Given the description of an element on the screen output the (x, y) to click on. 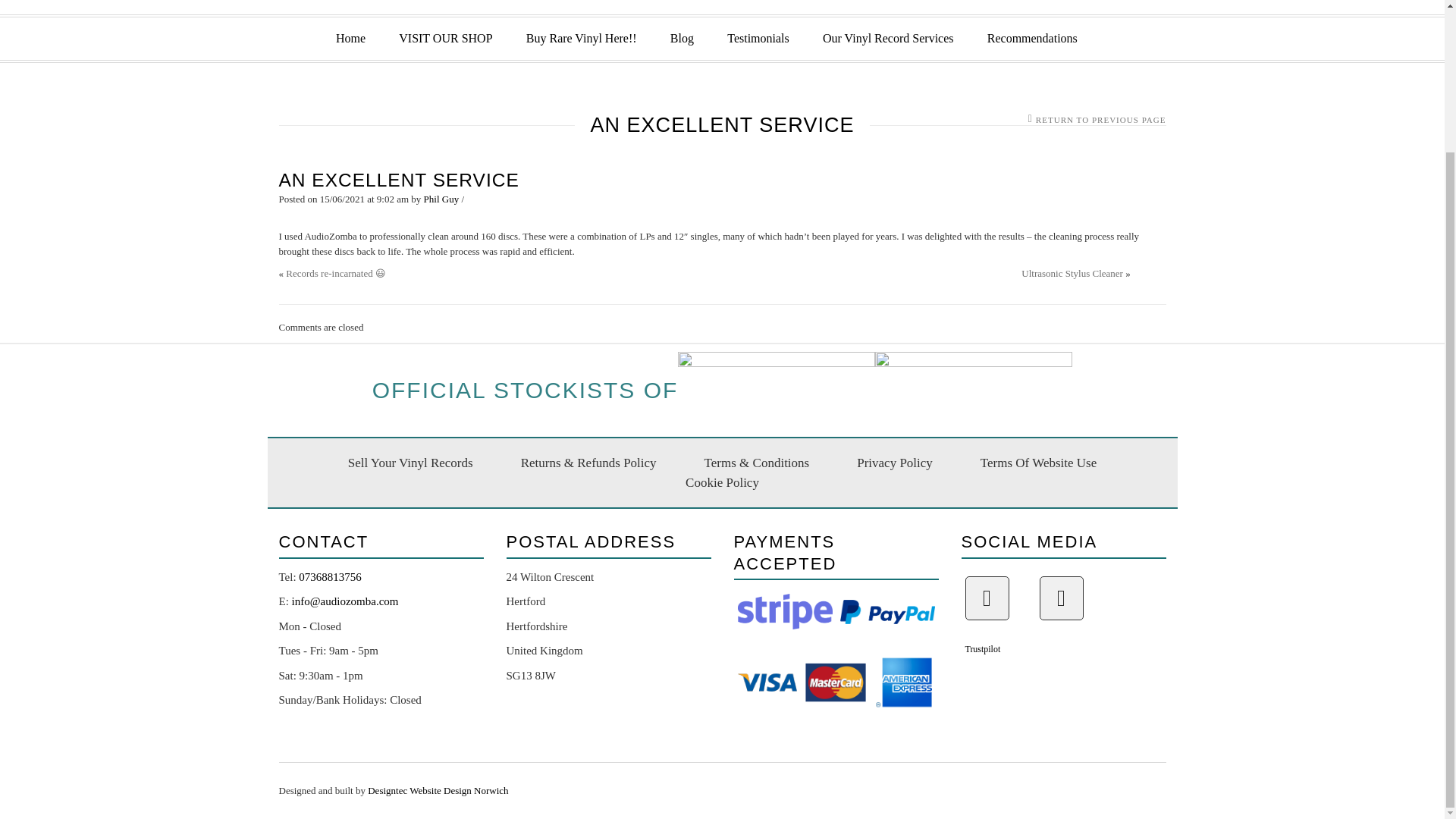
Michell (973, 390)
spincare (776, 390)
Posts by Phil Guy (441, 198)
